Given the description of an element on the screen output the (x, y) to click on. 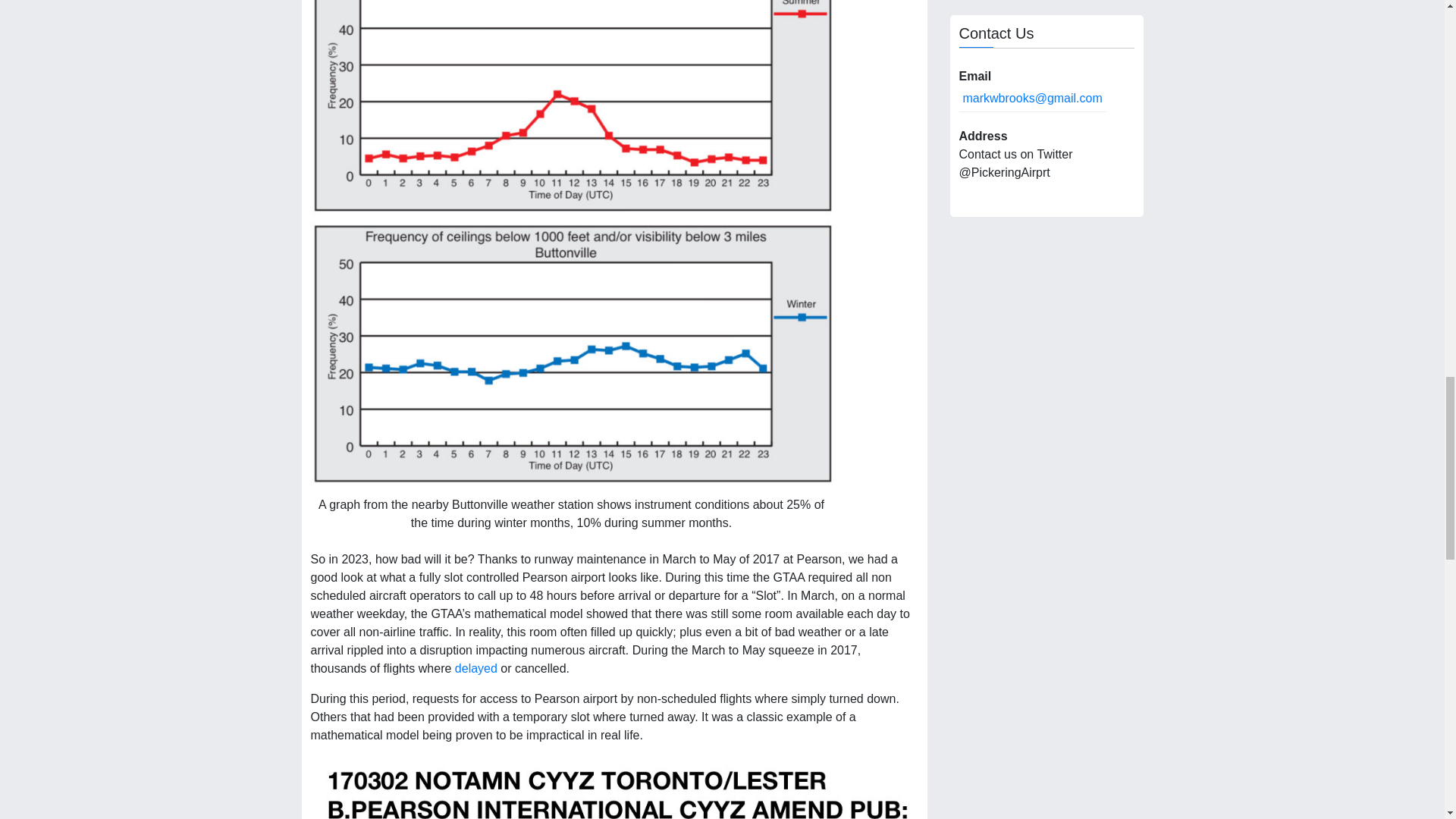
delayed (475, 667)
